Given the description of an element on the screen output the (x, y) to click on. 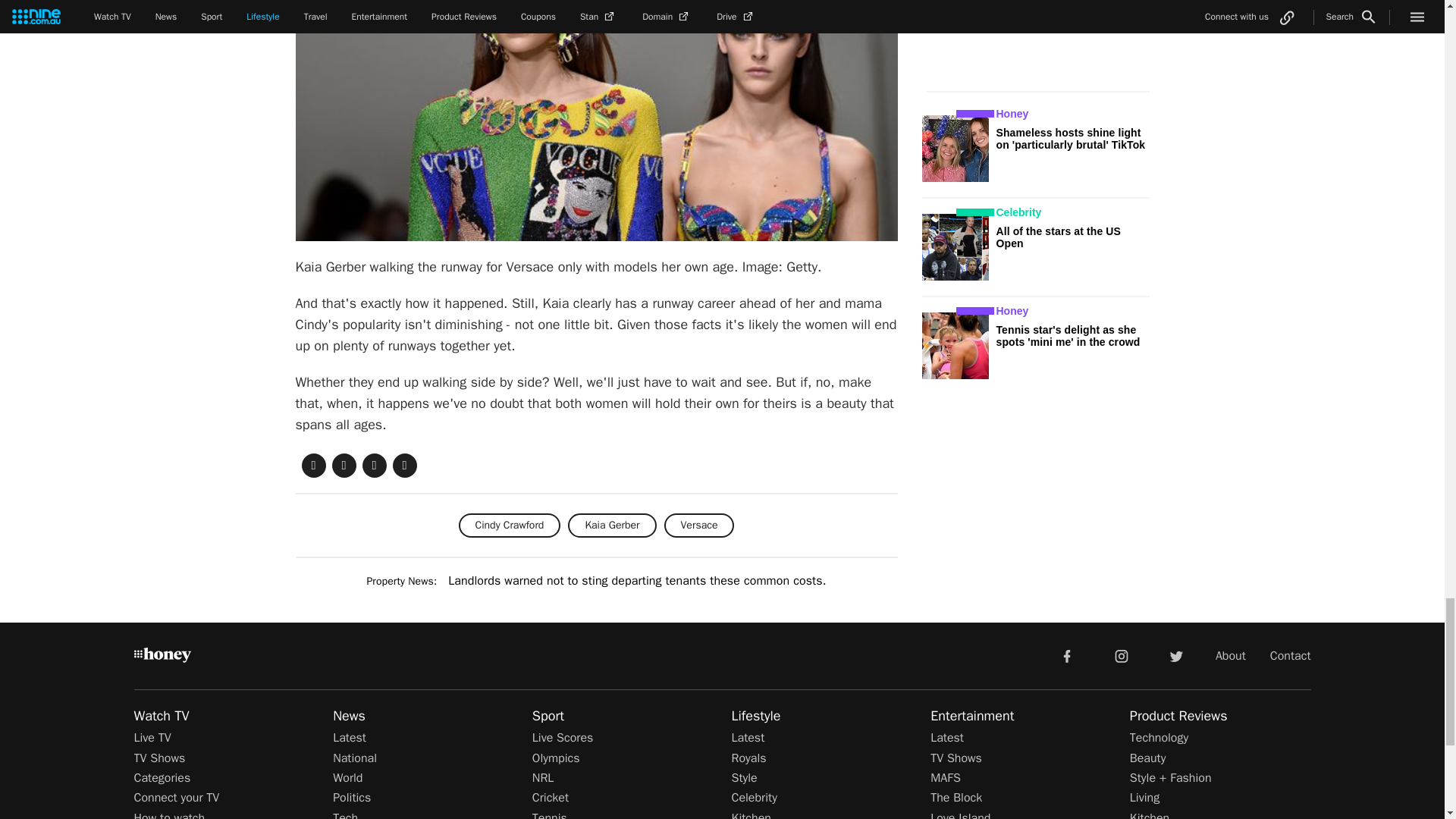
Versace (699, 525)
Kaia Gerber (611, 525)
facebook (1066, 654)
twitter (1175, 654)
instagram (1121, 654)
Cindy Crawford (509, 525)
